Given the description of an element on the screen output the (x, y) to click on. 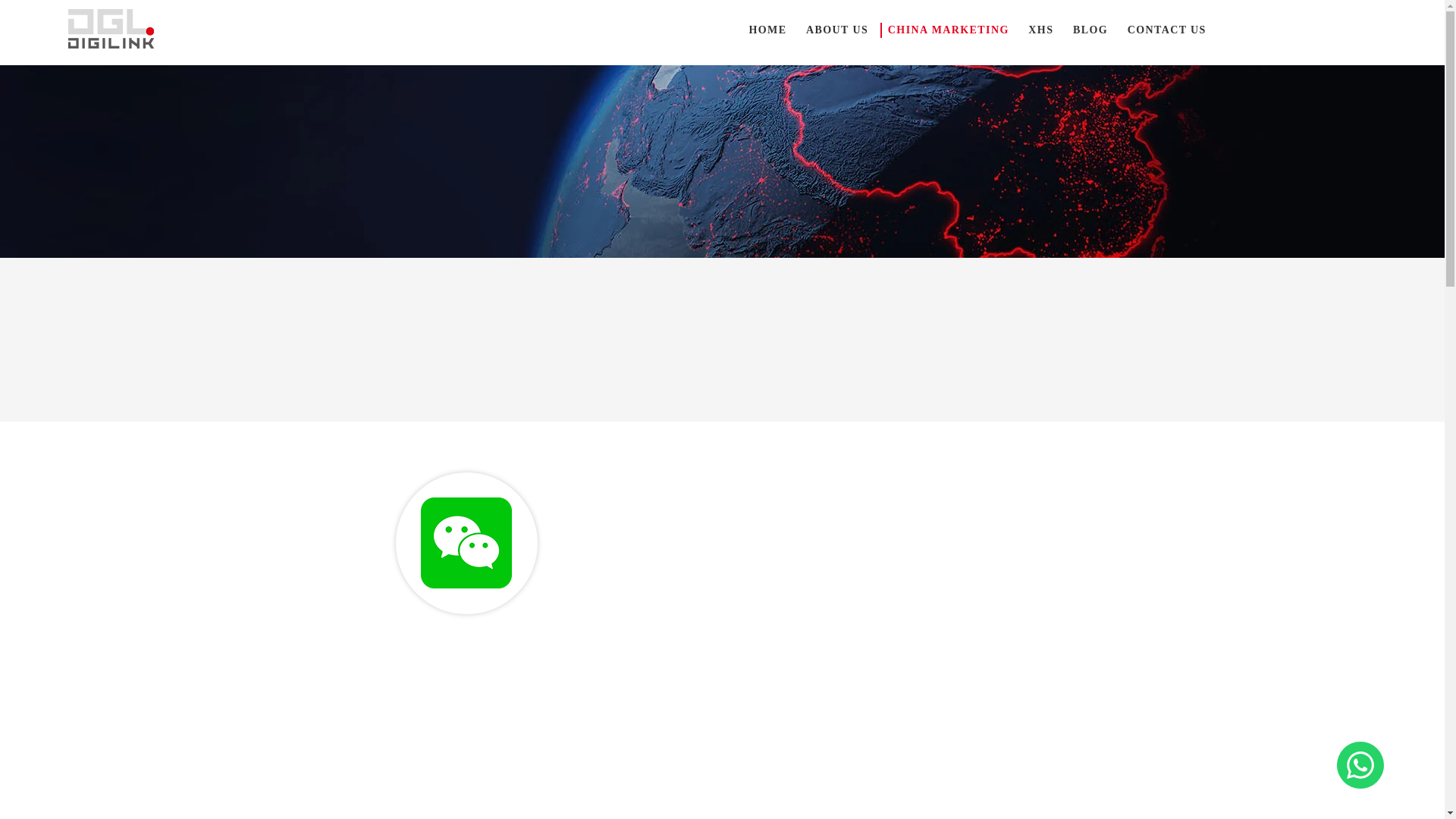
CHINA MARKETING (947, 29)
HOME (767, 29)
XHS (1040, 29)
CONTACT US (1165, 29)
ABOUT US (836, 29)
BLOG (1089, 29)
10002.png (466, 542)
